Given the description of an element on the screen output the (x, y) to click on. 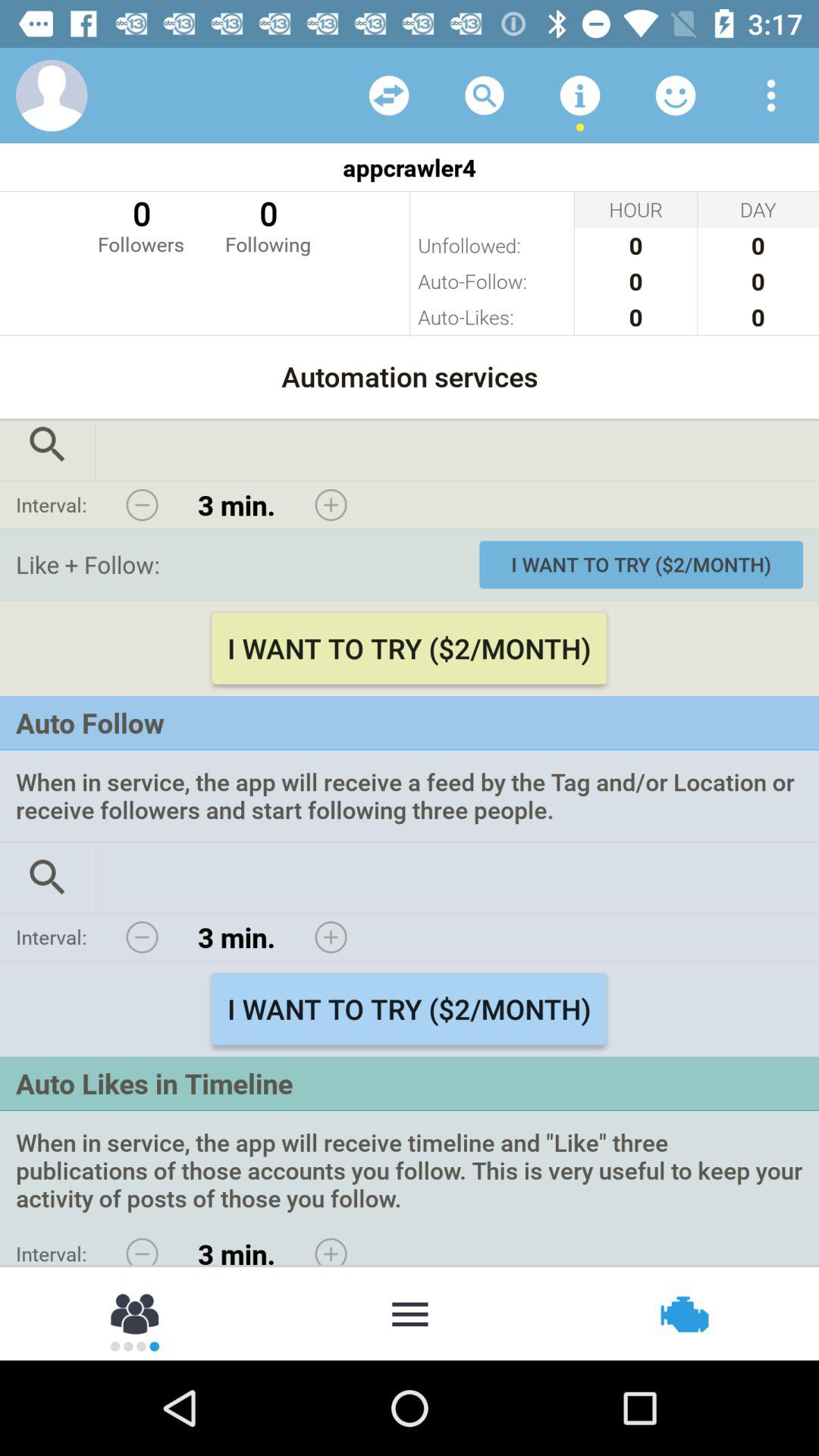
press the icon above the appcrawler4 item (579, 95)
